Given the description of an element on the screen output the (x, y) to click on. 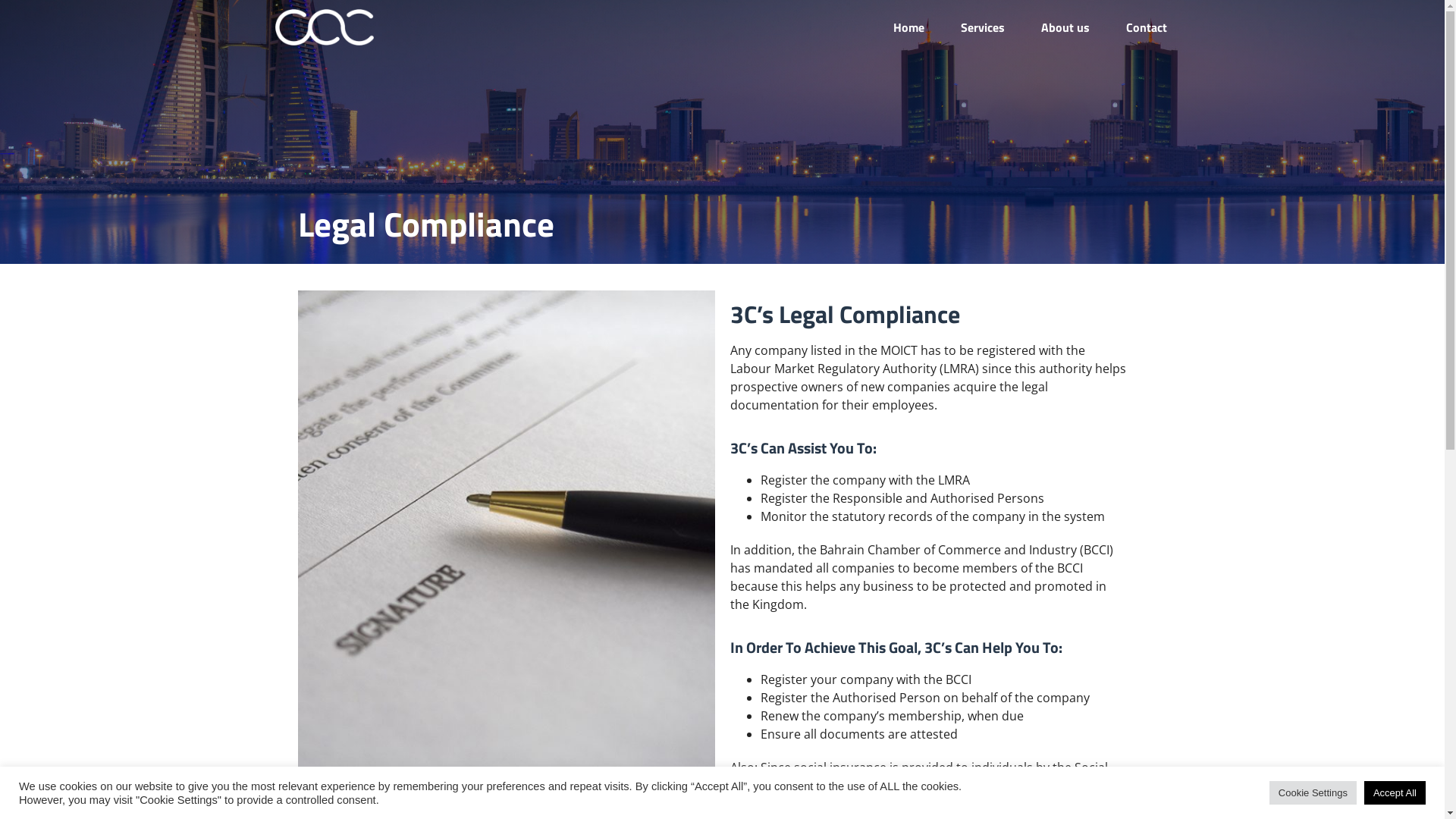
Accept All Element type: text (1394, 792)
Home Element type: text (908, 27)
About us Element type: text (1064, 27)
Services Element type: text (982, 27)
Cookie Settings Element type: text (1312, 792)
3cs-legal-Compliance-inner Element type: hover (505, 533)
Contact Element type: text (1145, 27)
